Given the description of an element on the screen output the (x, y) to click on. 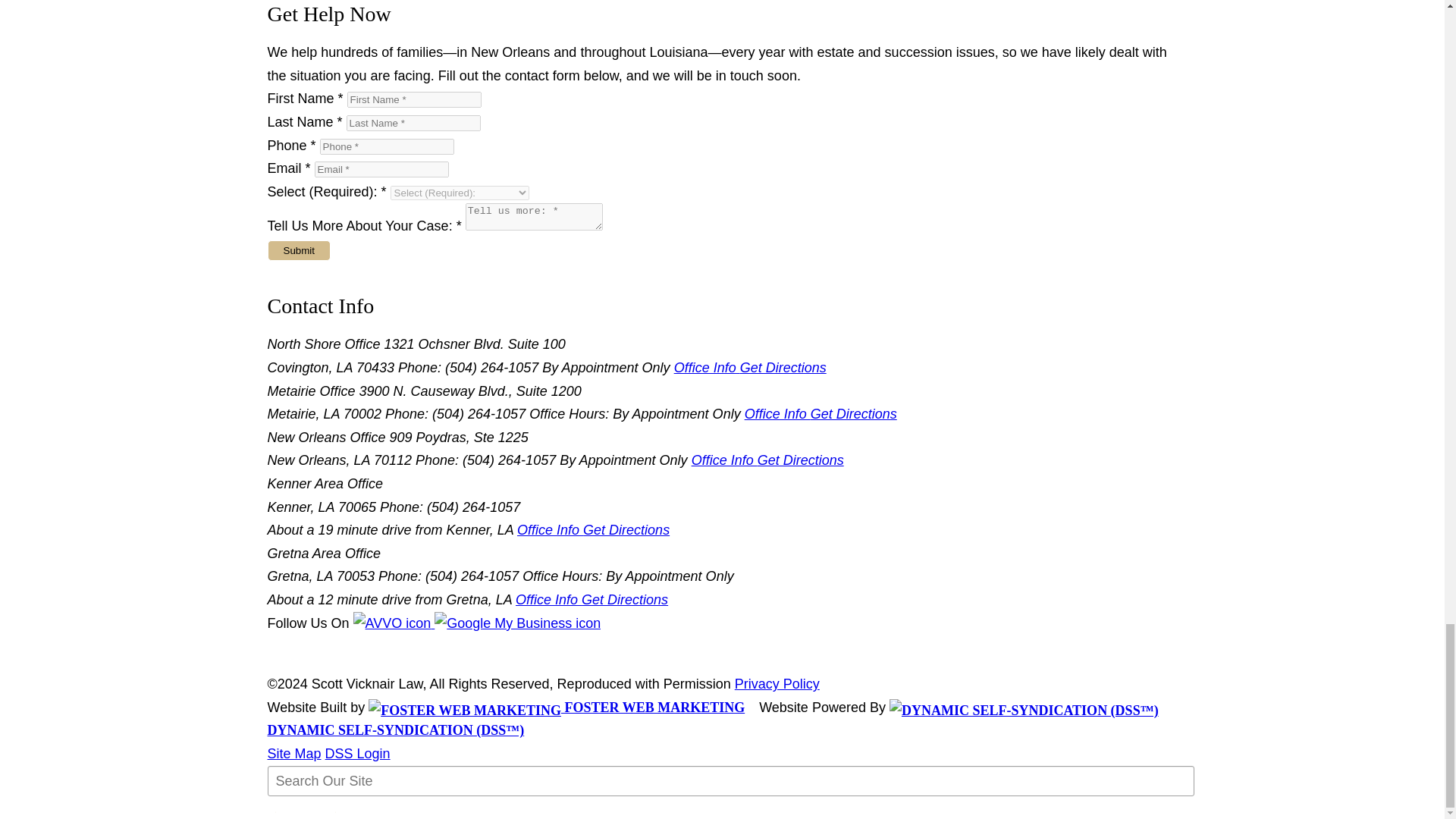
Search (304, 812)
